Given the description of an element on the screen output the (x, y) to click on. 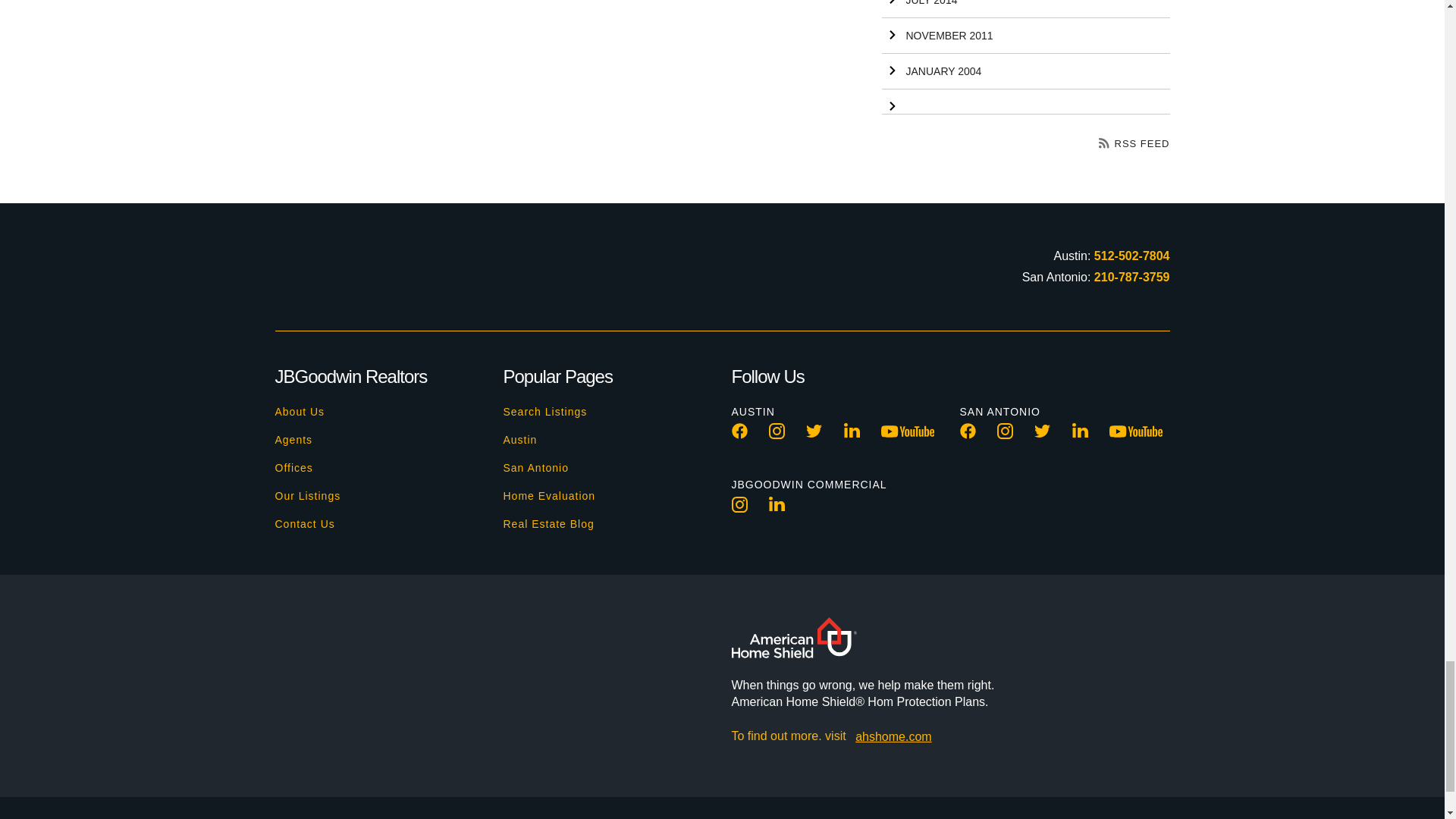
RSS FEED (1134, 143)
